Given the description of an element on the screen output the (x, y) to click on. 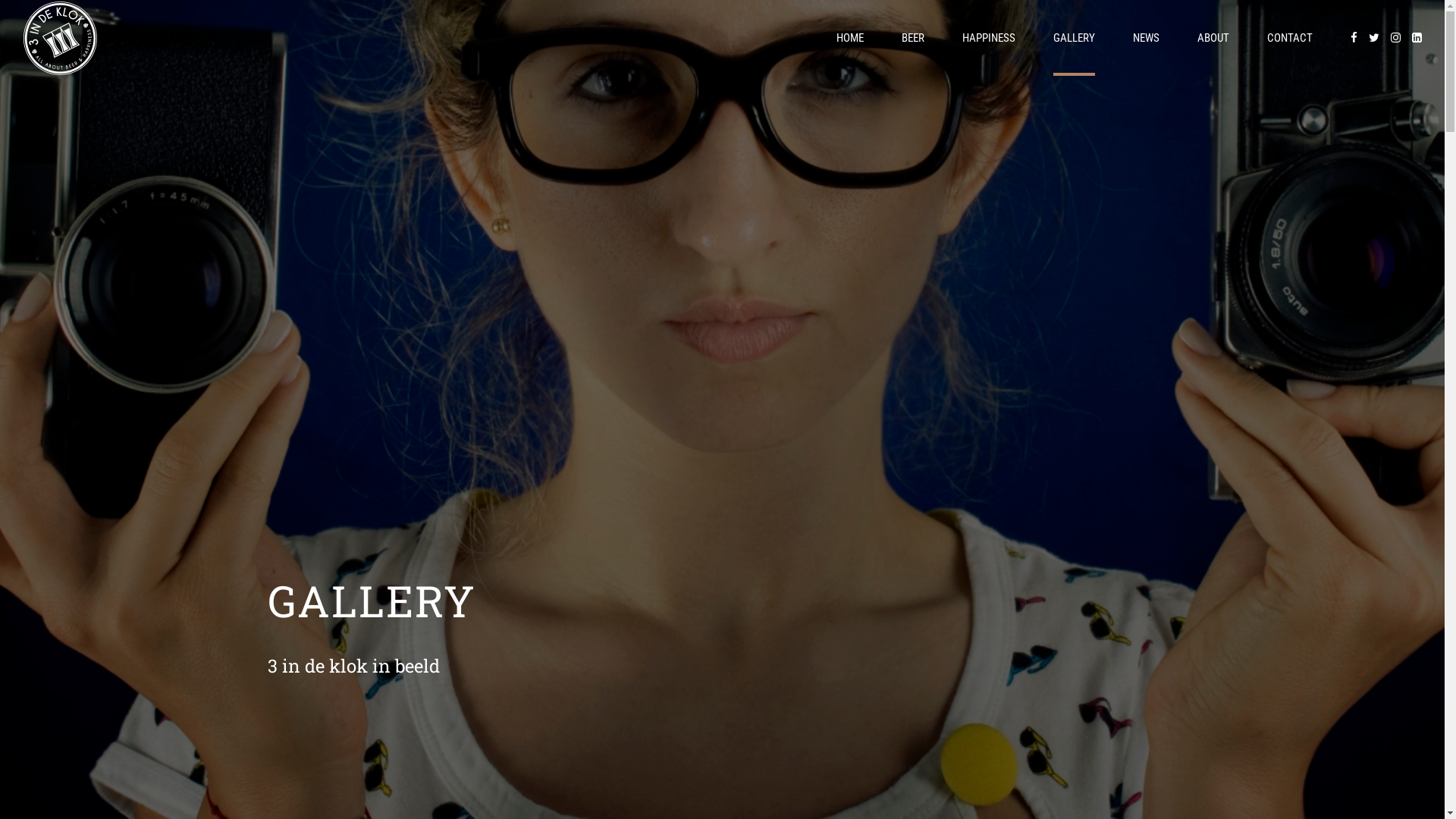
CONTACT Element type: text (1289, 37)
ABOUT Element type: text (1213, 37)
NEWS Element type: text (1145, 37)
BEER Element type: text (912, 37)
GALLERY Element type: text (1074, 37)
HAPPINESS Element type: text (988, 37)
HOME Element type: text (849, 37)
